Given the description of an element on the screen output the (x, y) to click on. 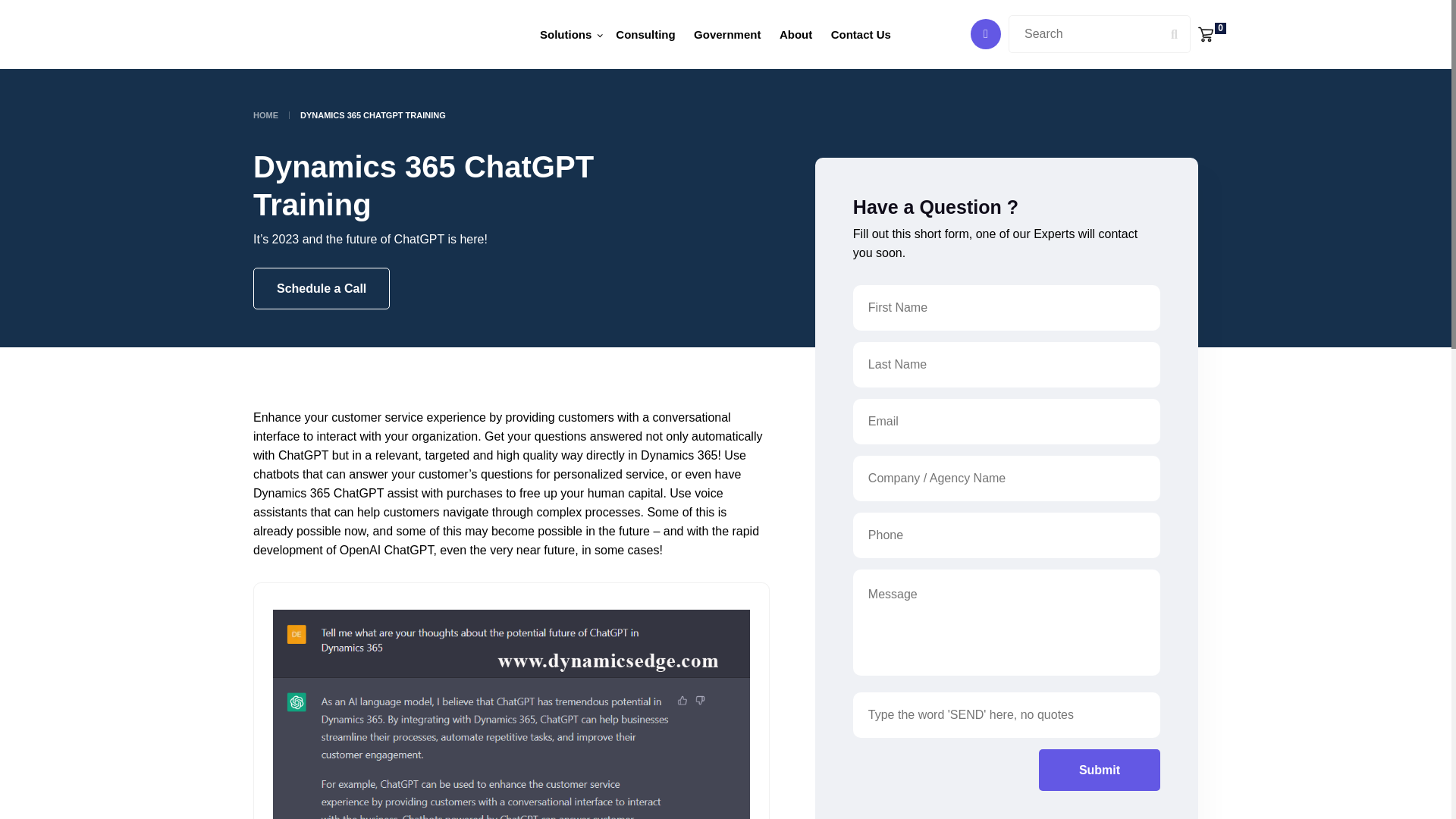
Solutions (569, 34)
Submit (1099, 770)
